Given the description of an element on the screen output the (x, y) to click on. 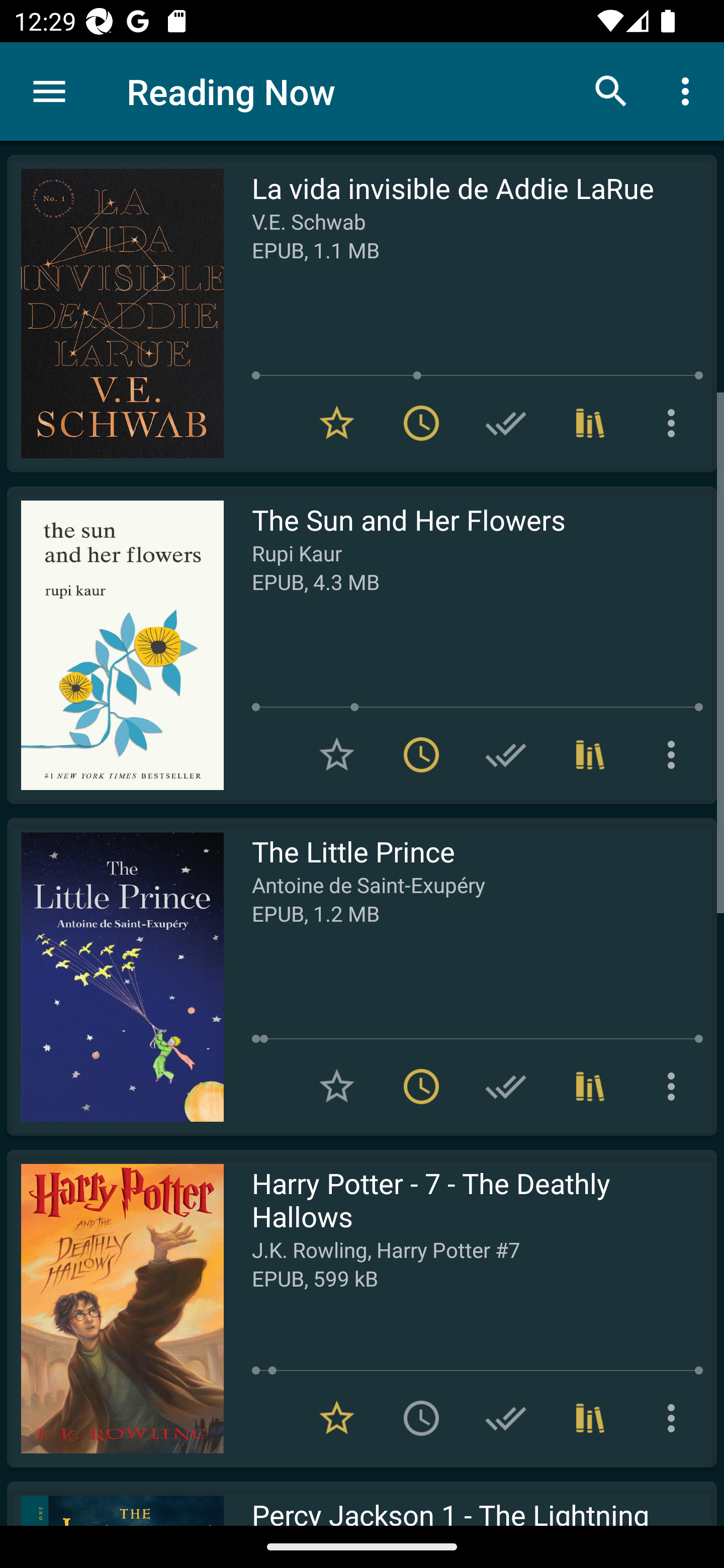
Menu (49, 91)
Search books & documents (611, 90)
More options (688, 90)
Read La vida invisible de Addie LaRue (115, 313)
Remove from Favorites (336, 423)
Remove from To read (421, 423)
Add to Have read (505, 423)
Collections (1) (590, 423)
More options (674, 423)
Read The Sun and Her Flowers (115, 645)
Add to Favorites (336, 753)
Remove from To read (421, 753)
Add to Have read (505, 753)
Collections (1) (590, 753)
More options (674, 753)
Read The Little Prince (115, 976)
Add to Favorites (336, 1086)
